Given the description of an element on the screen output the (x, y) to click on. 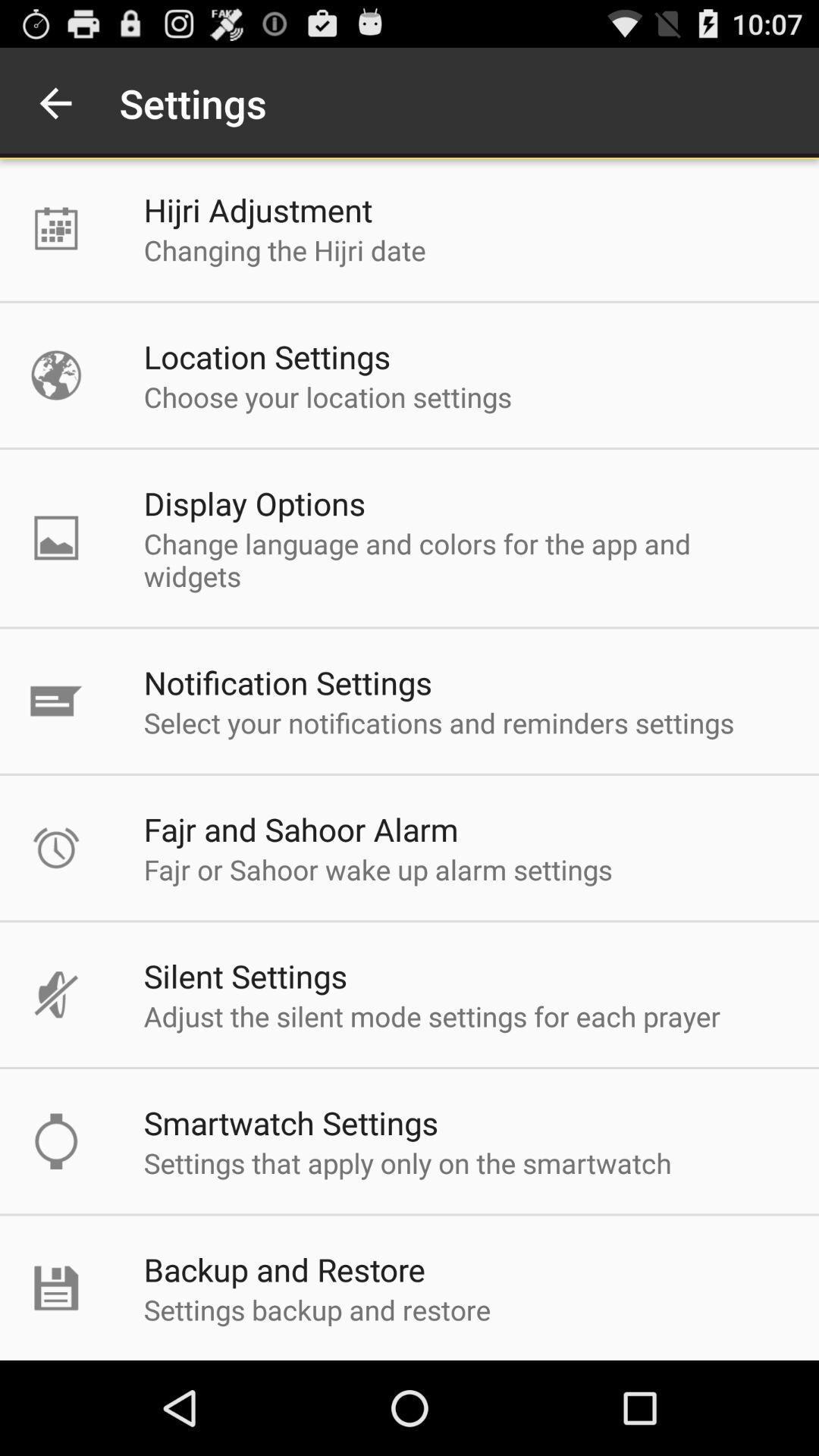
open icon below the smartwatch settings app (407, 1162)
